Given the description of an element on the screen output the (x, y) to click on. 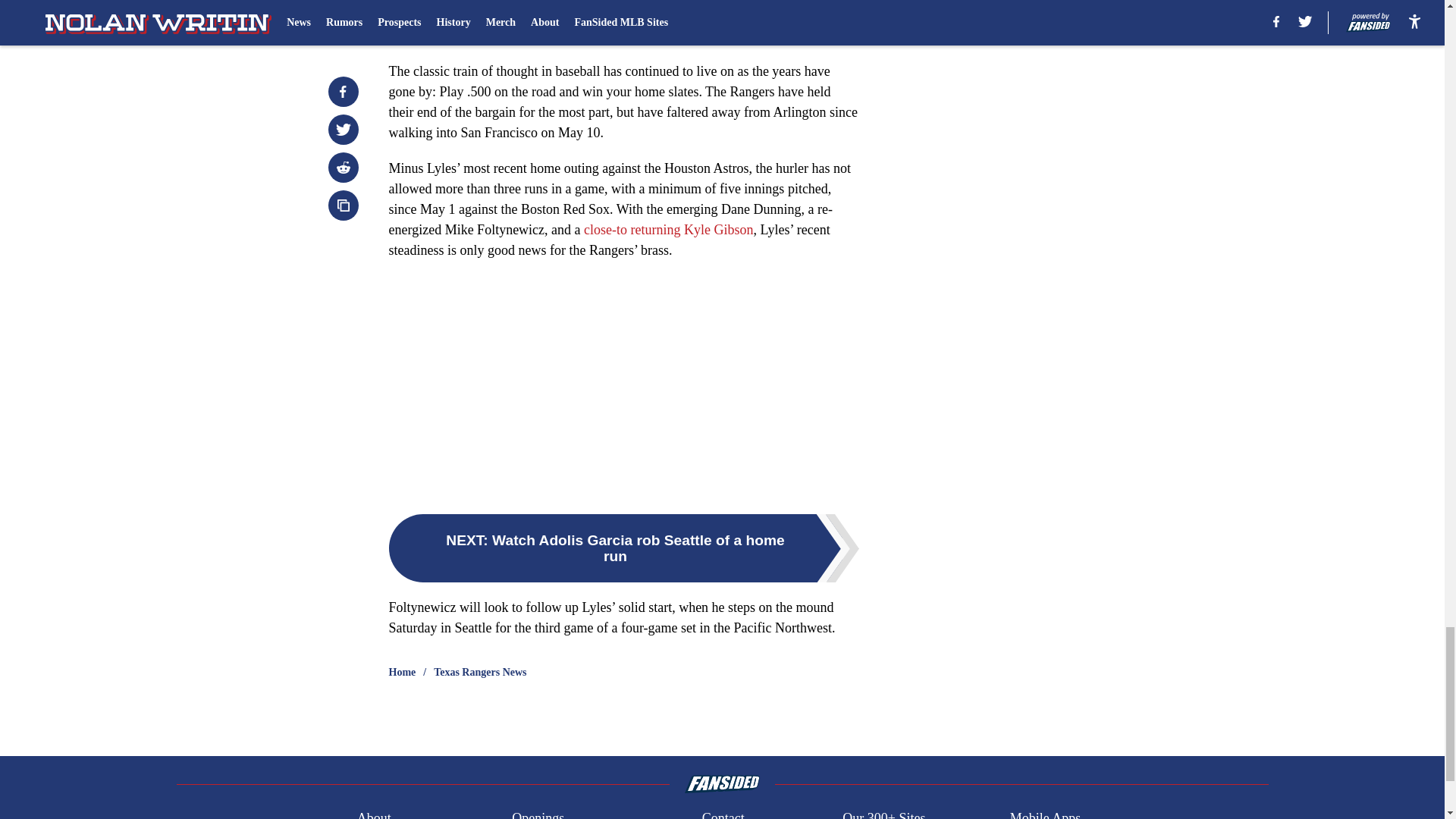
close-to returning Kyle Gibson (667, 229)
About (373, 813)
Home (401, 672)
Texas Rangers News (479, 672)
NEXT: Watch Adolis Garcia rob Seattle of a home run (623, 548)
